Given the description of an element on the screen output the (x, y) to click on. 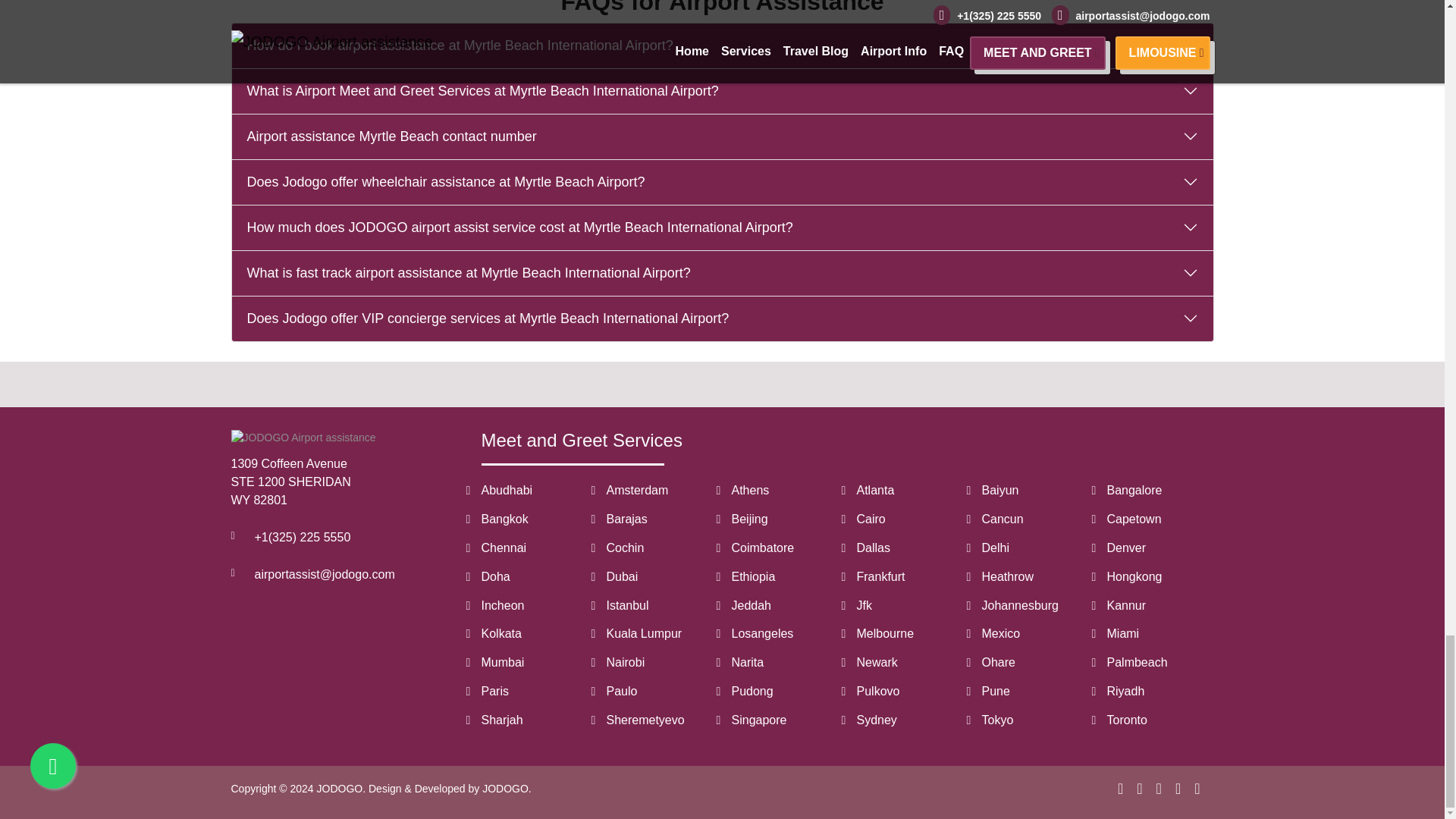
JODOGO Airport assistance (302, 437)
Airport assistance Myrtle Beach contact number (721, 136)
